Given the description of an element on the screen output the (x, y) to click on. 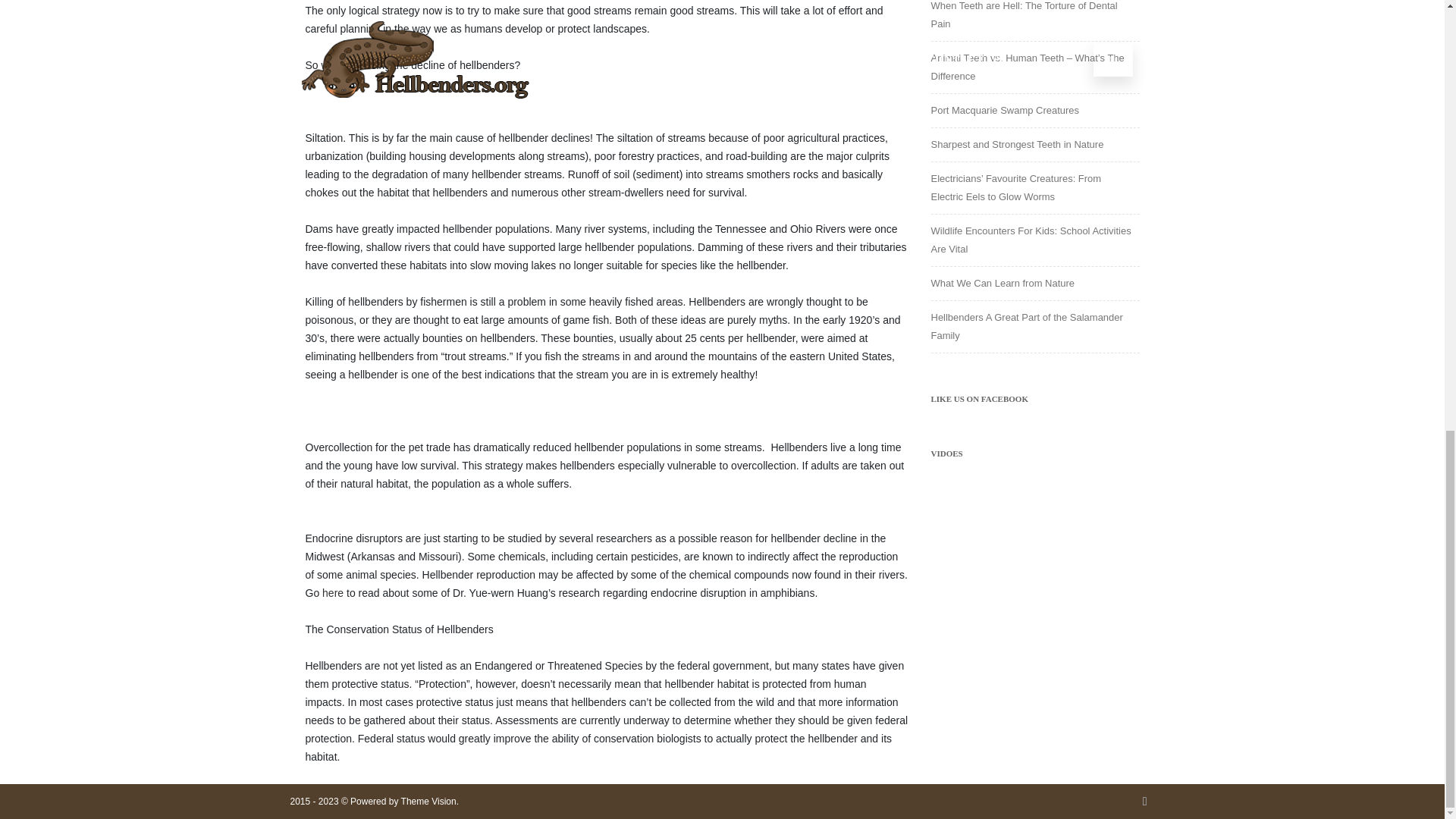
Sharpest and Strongest Teeth in Nature (1017, 143)
Port Macquarie Swamp Creatures (1005, 110)
What We Can Learn from Nature (1003, 283)
Wildlife Encounters For Kids: School Activities Are Vital (1031, 239)
here (332, 592)
When Teeth are Hell: The Torture of Dental Pain (1024, 14)
Hellbenders A Great Part of the Salamander Family (1026, 326)
